Given the description of an element on the screen output the (x, y) to click on. 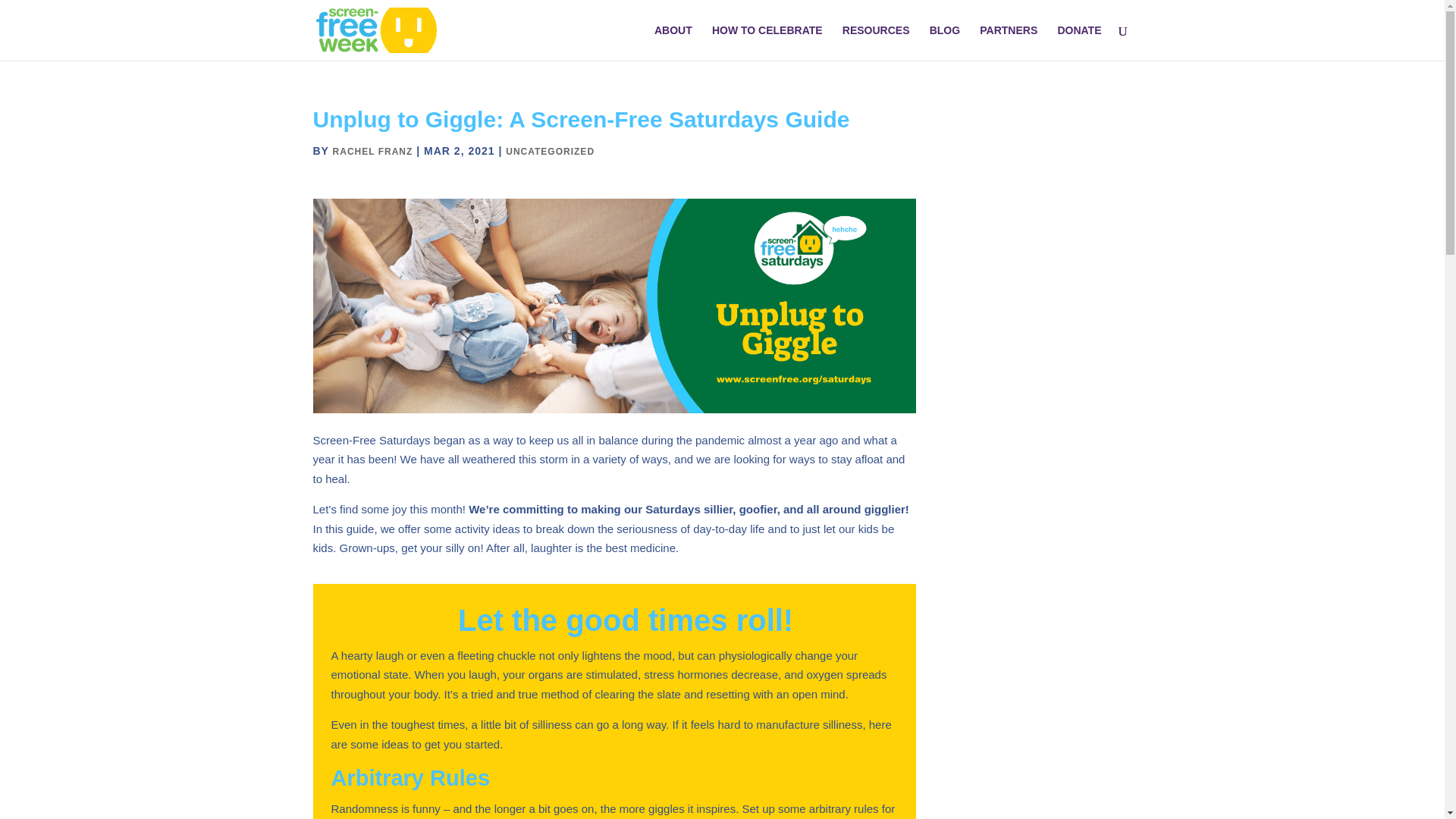
PARTNERS (1007, 42)
ABOUT (673, 42)
RACHEL FRANZ (373, 151)
HOW TO CELEBRATE (766, 42)
RESOURCES (876, 42)
UNCATEGORIZED (549, 151)
DONATE (1078, 42)
Posts by Rachel Franz (373, 151)
